Given the description of an element on the screen output the (x, y) to click on. 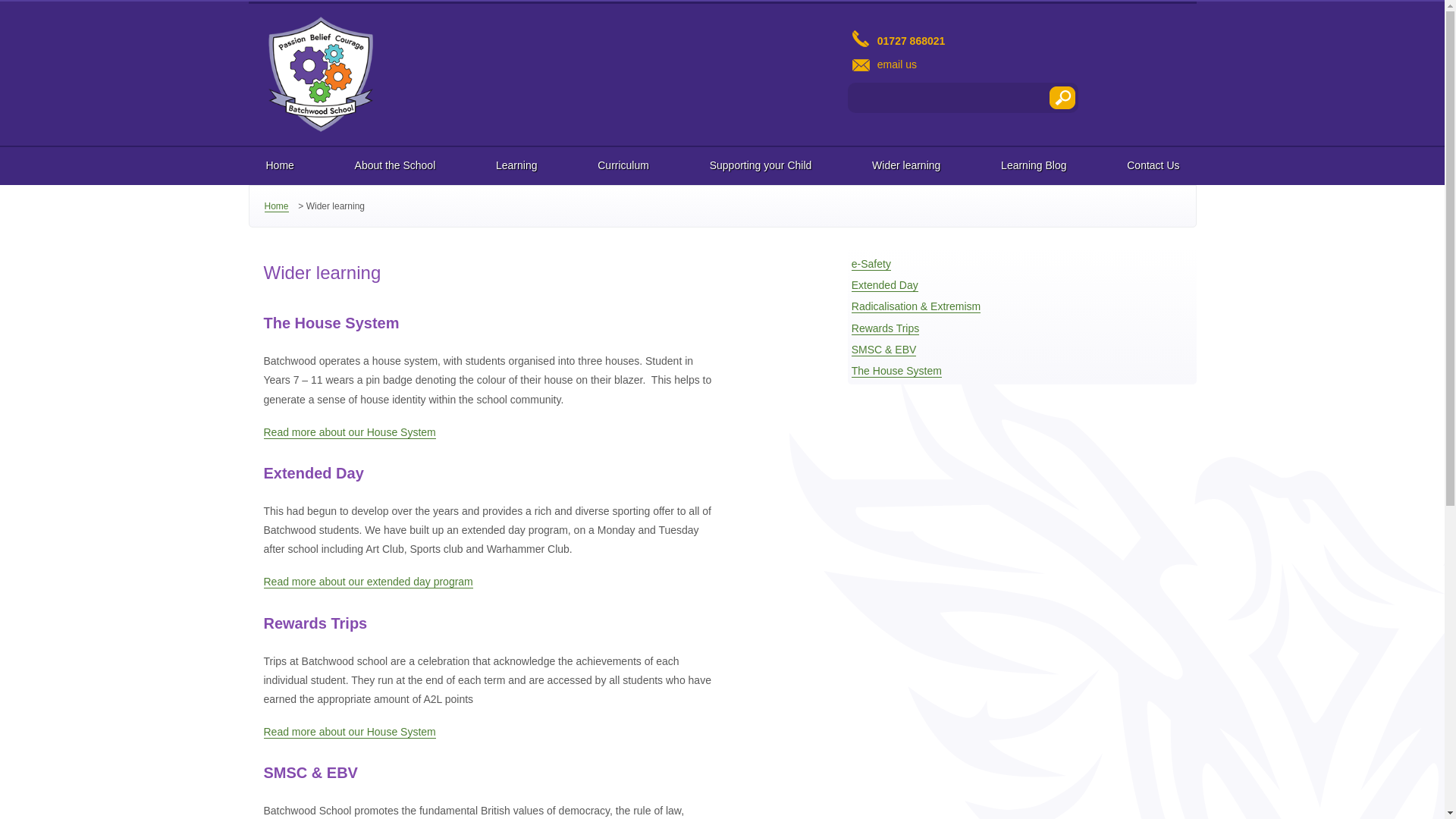
go (1062, 97)
Home (279, 166)
email us (1021, 63)
About the School (394, 166)
01727 868021 (1021, 36)
Learning (516, 166)
go (1062, 97)
Curriculum (622, 166)
